Given the description of an element on the screen output the (x, y) to click on. 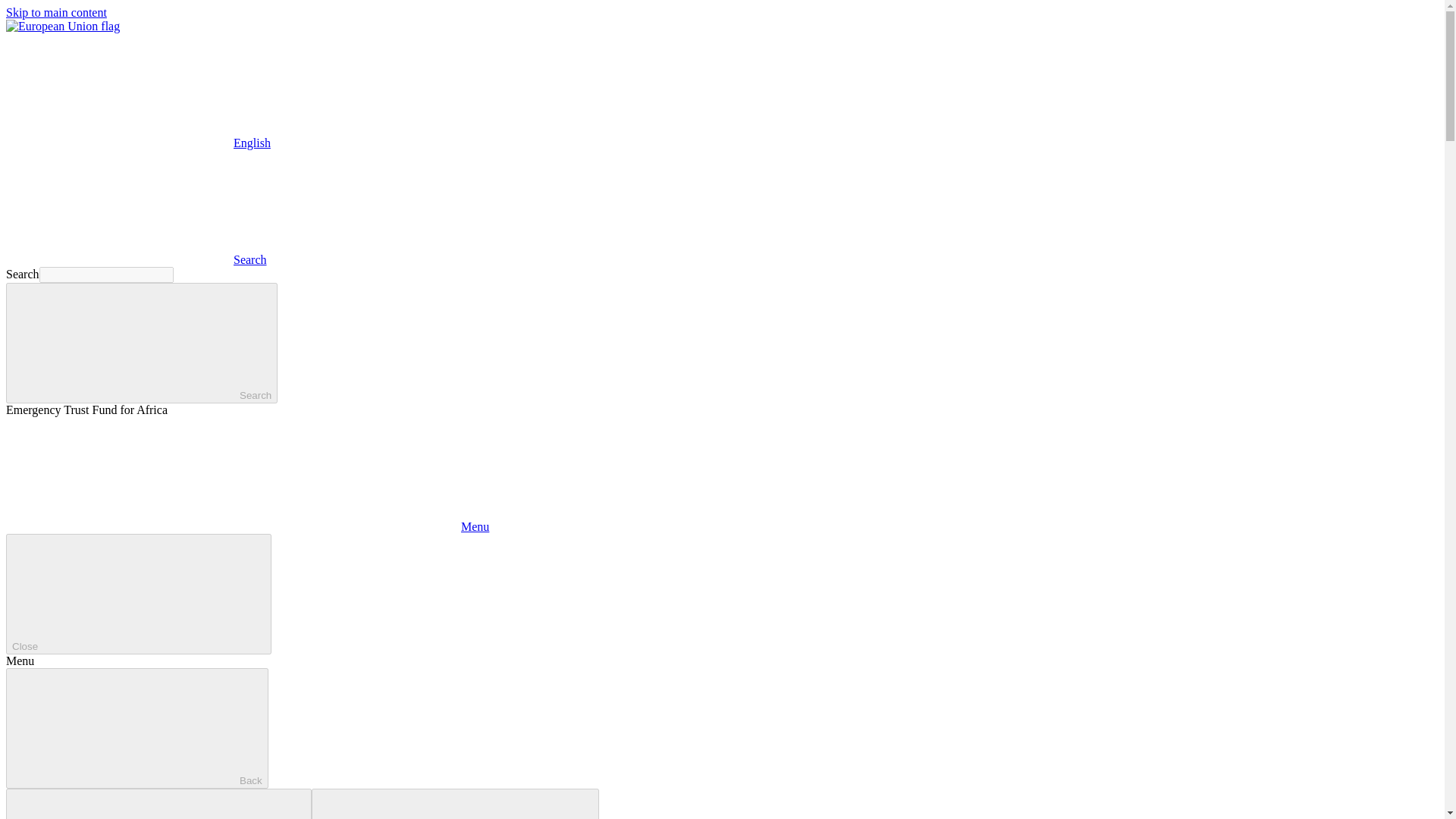
Previous items (158, 803)
Menu (247, 526)
English (118, 90)
Search (135, 259)
Next items (454, 803)
European Union (62, 25)
EnglishEnglish (137, 142)
Back (136, 728)
Close (137, 593)
Skip to main content (55, 11)
Search (141, 342)
